Given the description of an element on the screen output the (x, y) to click on. 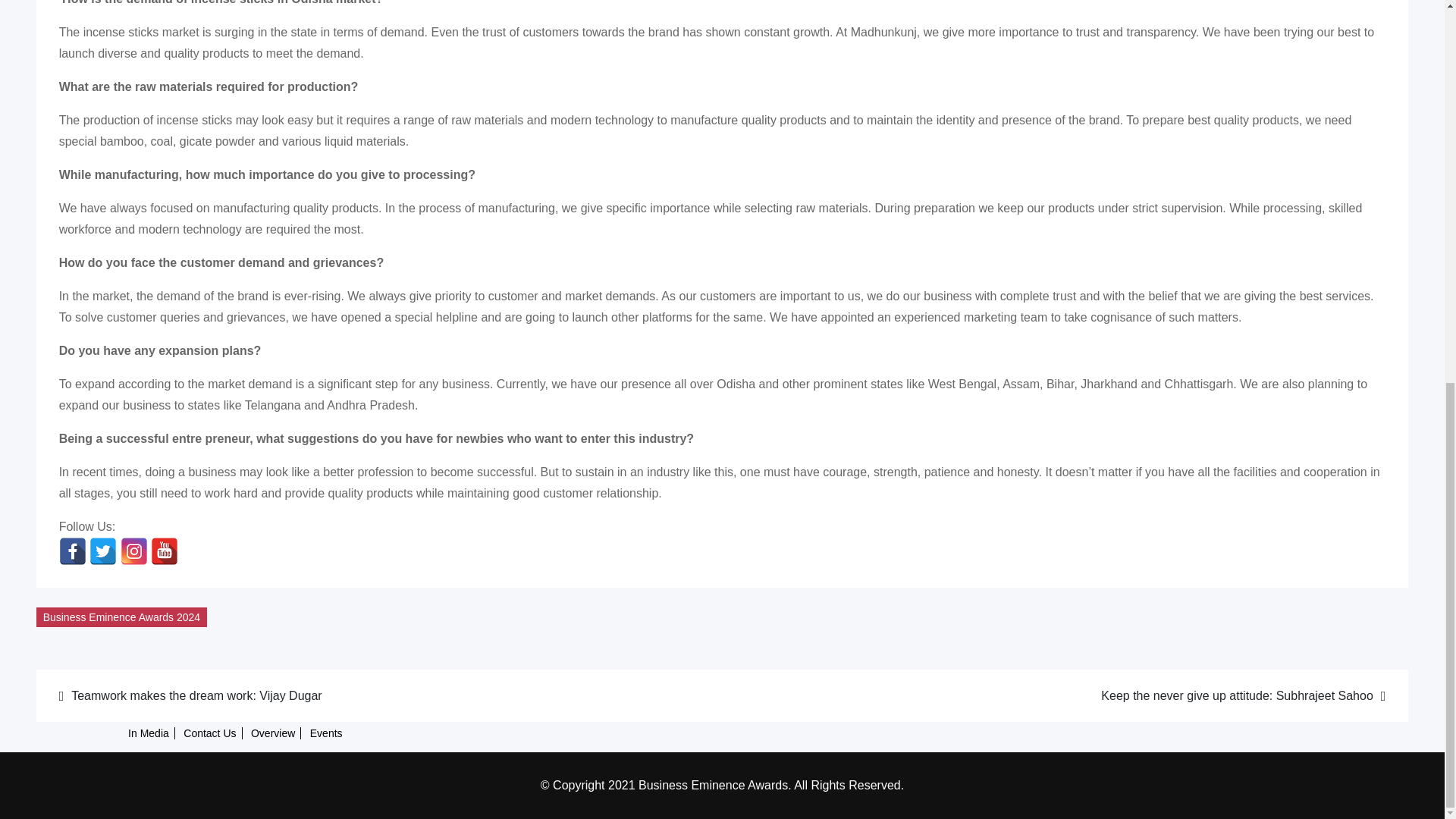
Contact Us (209, 733)
Business Eminence Awards 2024 (122, 617)
Keep the never give up attitude: Subhrajeet Sahoo (1063, 695)
Teamwork makes the dream work: Vijay Dugar (381, 695)
Events (325, 733)
In Media (148, 733)
Overview (273, 733)
